Given the description of an element on the screen output the (x, y) to click on. 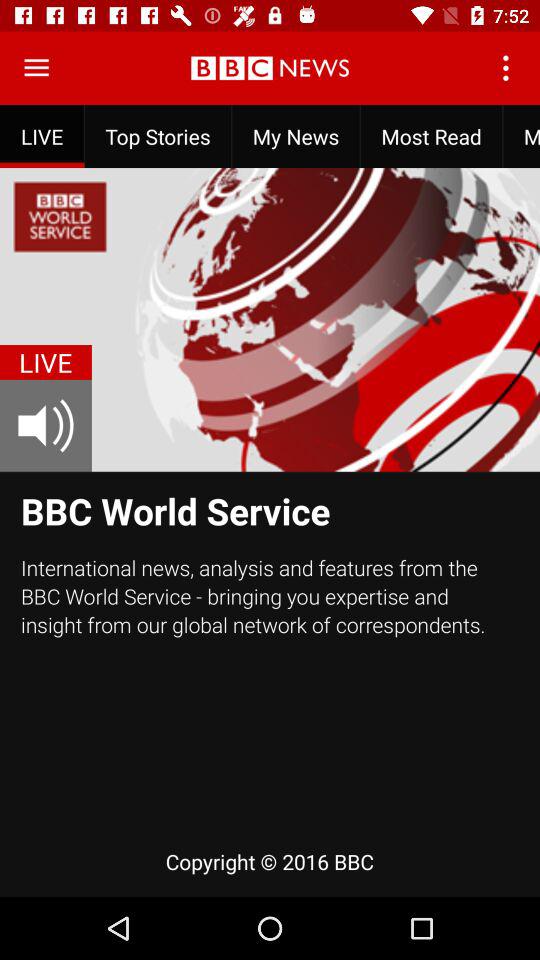
open the menu (36, 68)
